Given the description of an element on the screen output the (x, y) to click on. 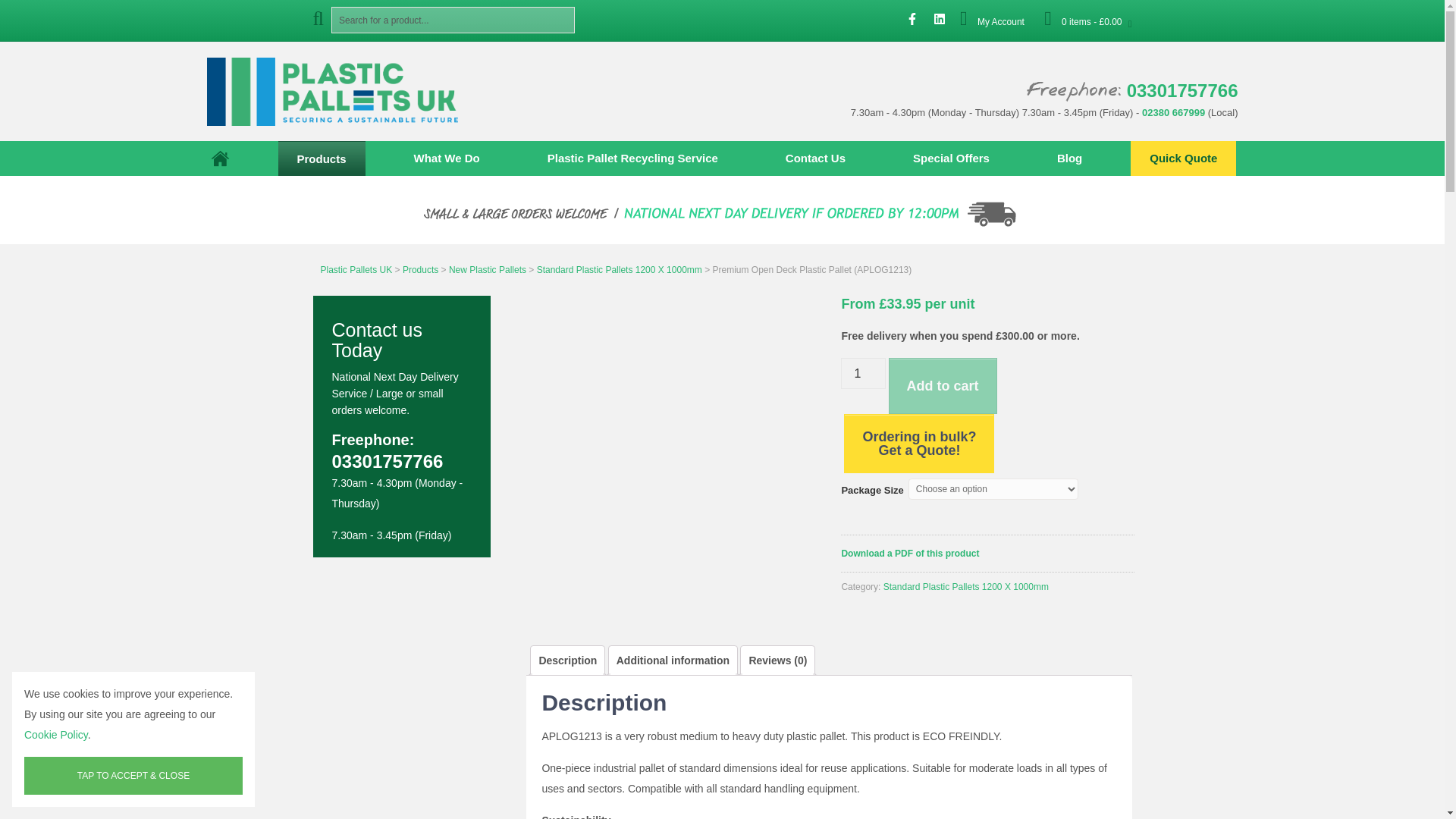
03301757766 (1182, 90)
Back To Homepage (344, 91)
Get a Quote (1183, 158)
Associated Pallets - New and Used Wooden and Plastic Pallets (344, 91)
Go to the New Plastic Pallets Category archives. (486, 269)
Qty (863, 373)
Open Your Basket (1087, 21)
Cookie Policy (55, 734)
My Account (1000, 21)
Go to Products. (420, 269)
Products (321, 158)
1 (863, 373)
Go to Plastic Pallets UK. (355, 269)
